Given the description of an element on the screen output the (x, y) to click on. 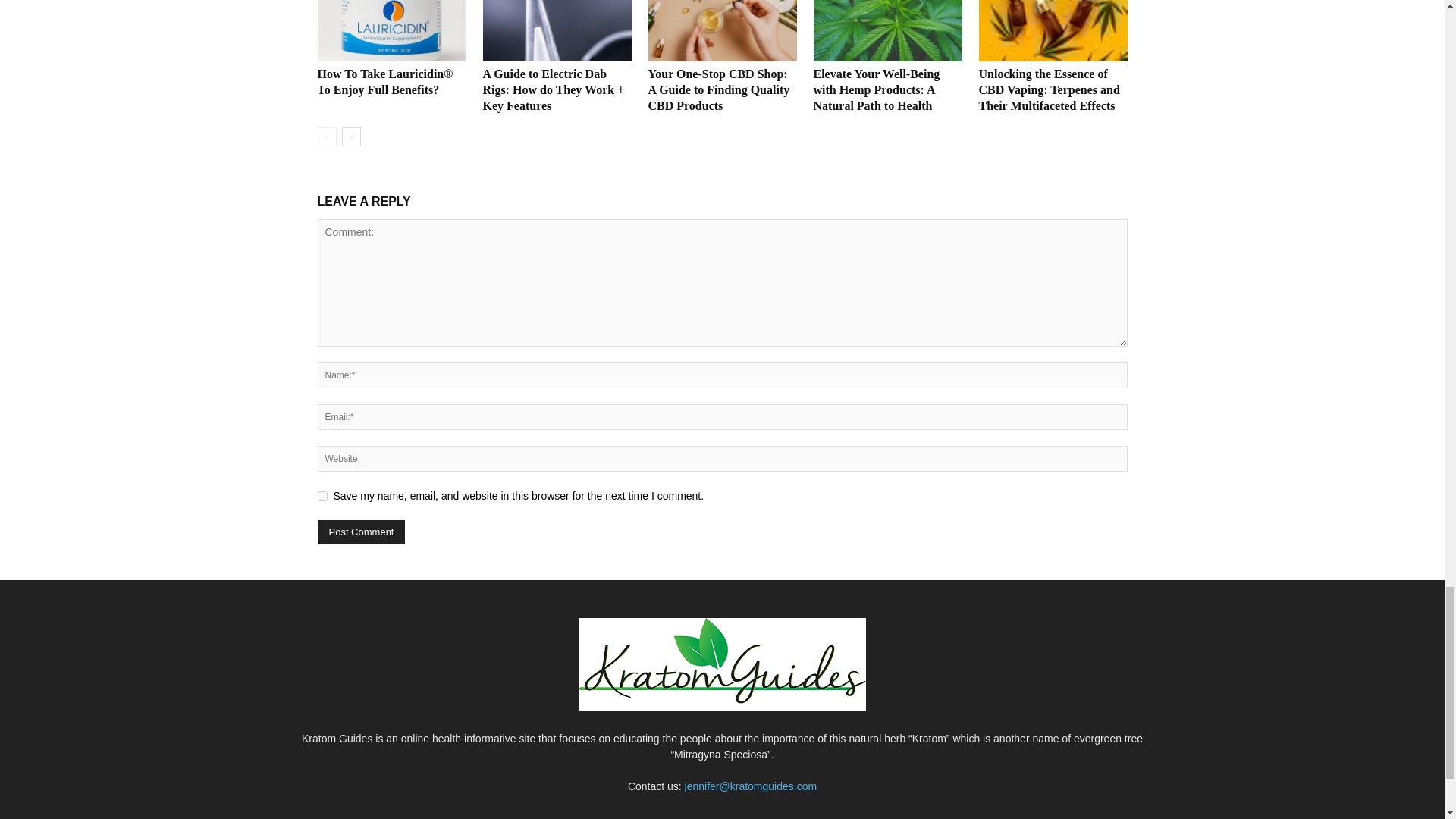
yes (321, 496)
Post Comment (360, 531)
